Given the description of an element on the screen output the (x, y) to click on. 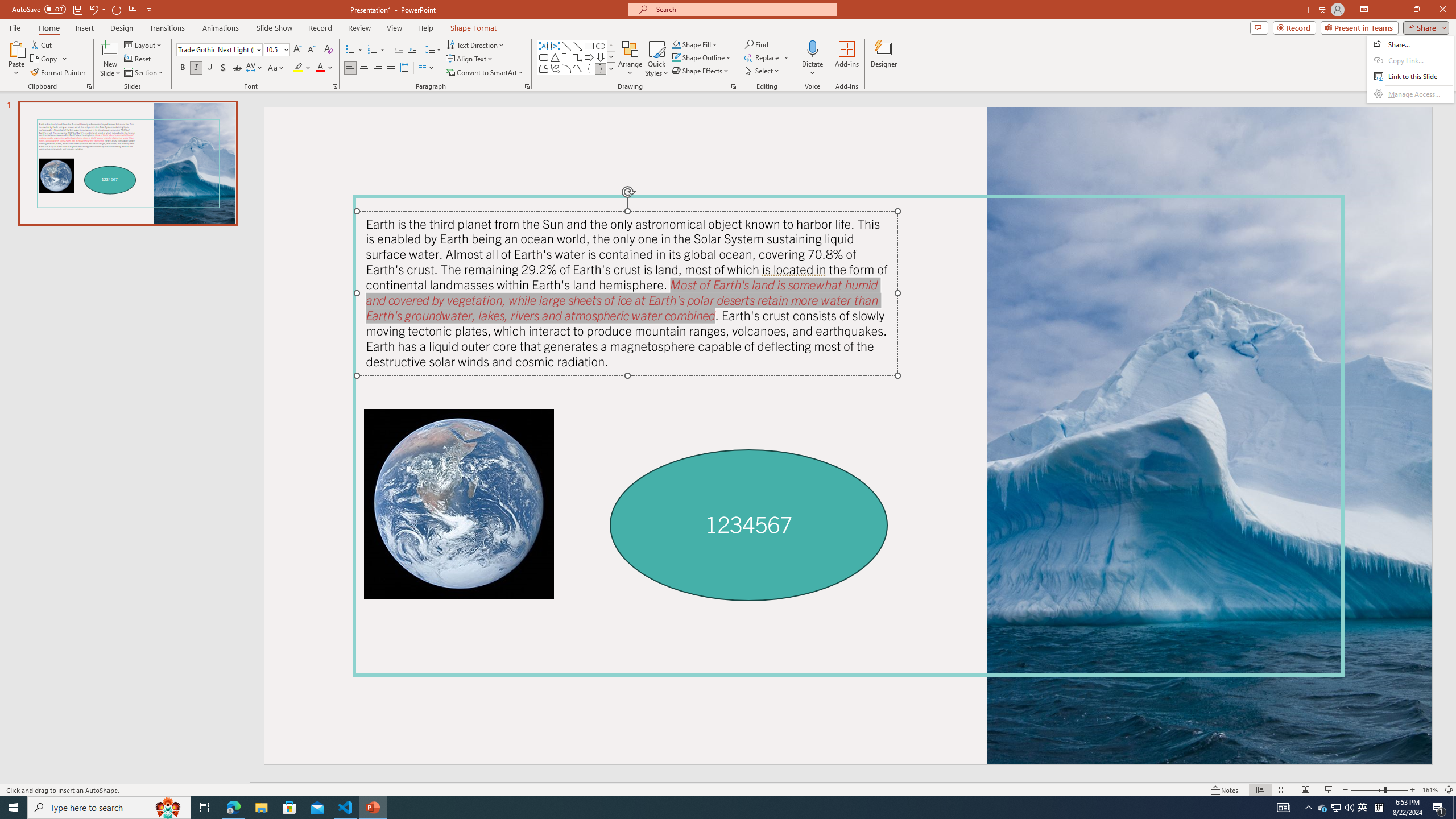
Microsoft Edge - 1 running window (233, 807)
